Given the description of an element on the screen output the (x, y) to click on. 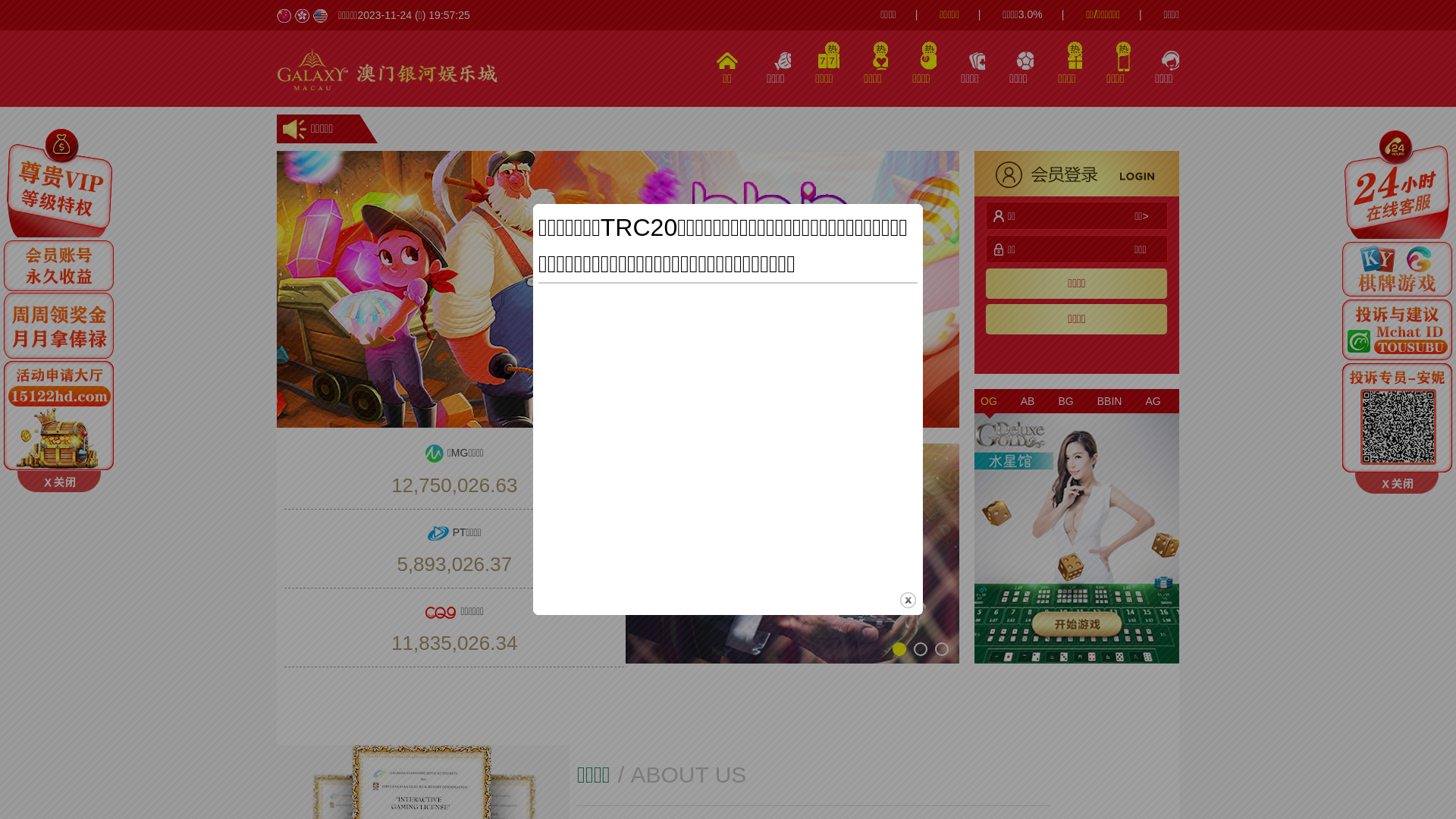
AB Element type: text (1027, 401)
AG Element type: text (1152, 401)
OG Element type: text (988, 401)
BBIN Element type: text (1109, 401)
close Element type: text (907, 599)
BG Element type: text (1065, 401)
